Given the description of an element on the screen output the (x, y) to click on. 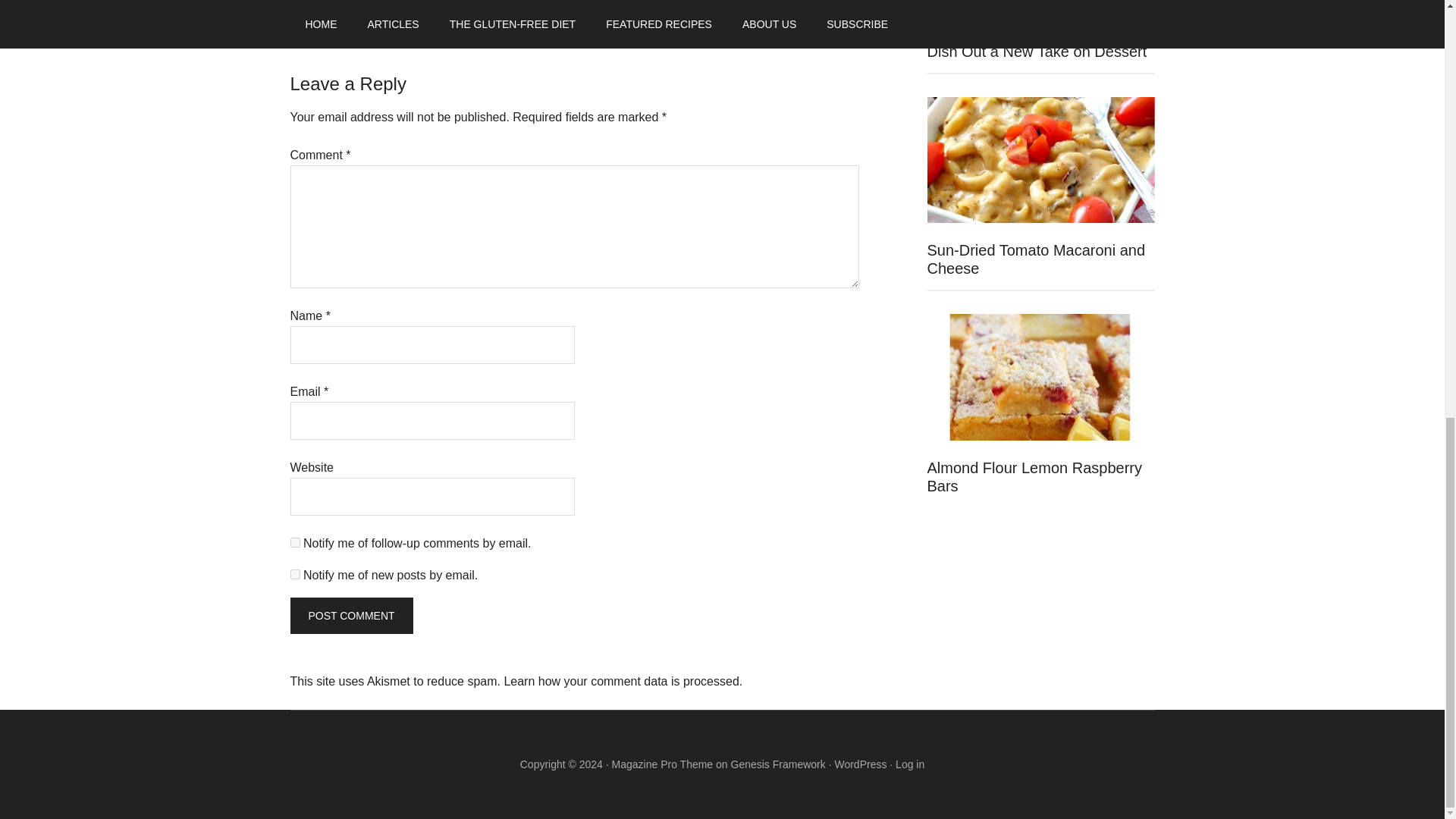
subscribe (294, 542)
Click to share on Twitter (301, 2)
Post Comment (350, 615)
Post Comment (350, 615)
subscribe (294, 574)
Click to share on Reddit (422, 2)
Almond Flour Lemon Raspberry Bars (1033, 476)
Sun-Dried Tomato Macaroni and Cheese (1035, 258)
Click to share on Facebook (331, 2)
Magazine Pro Theme (662, 764)
Dish Out a New Take on Dessert (1036, 51)
WordPress (860, 764)
Click to email a link to a friend (362, 2)
Log in (909, 764)
Genesis Framework (777, 764)
